Given the description of an element on the screen output the (x, y) to click on. 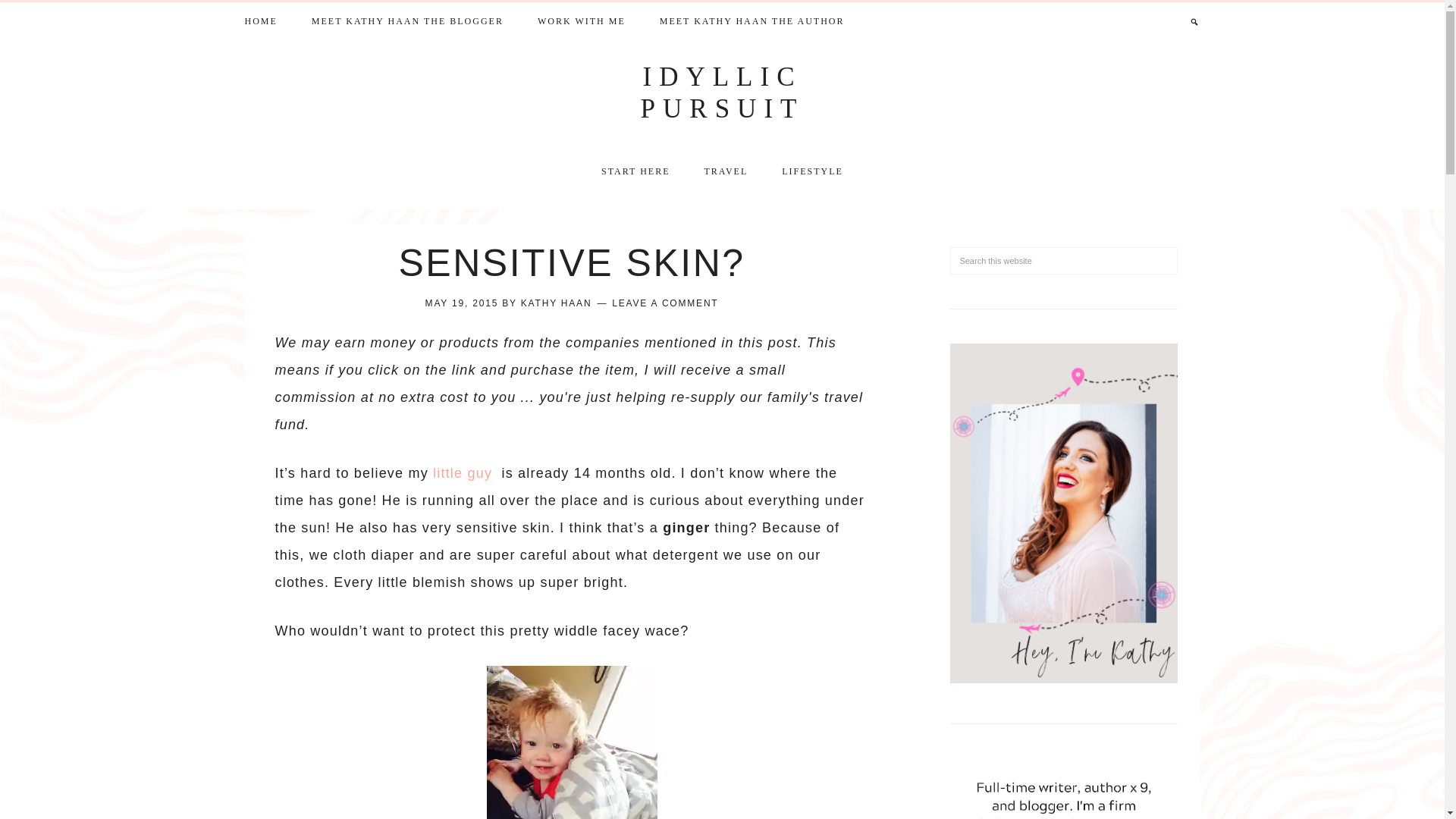
TRAVEL (725, 171)
MEET KATHY HAAN THE BLOGGER (407, 19)
IDYLLIC PURSUIT (722, 92)
WORK WITH ME (581, 19)
HOME (260, 19)
LIFESTYLE (813, 169)
KATHY HAAN (556, 302)
